Given the description of an element on the screen output the (x, y) to click on. 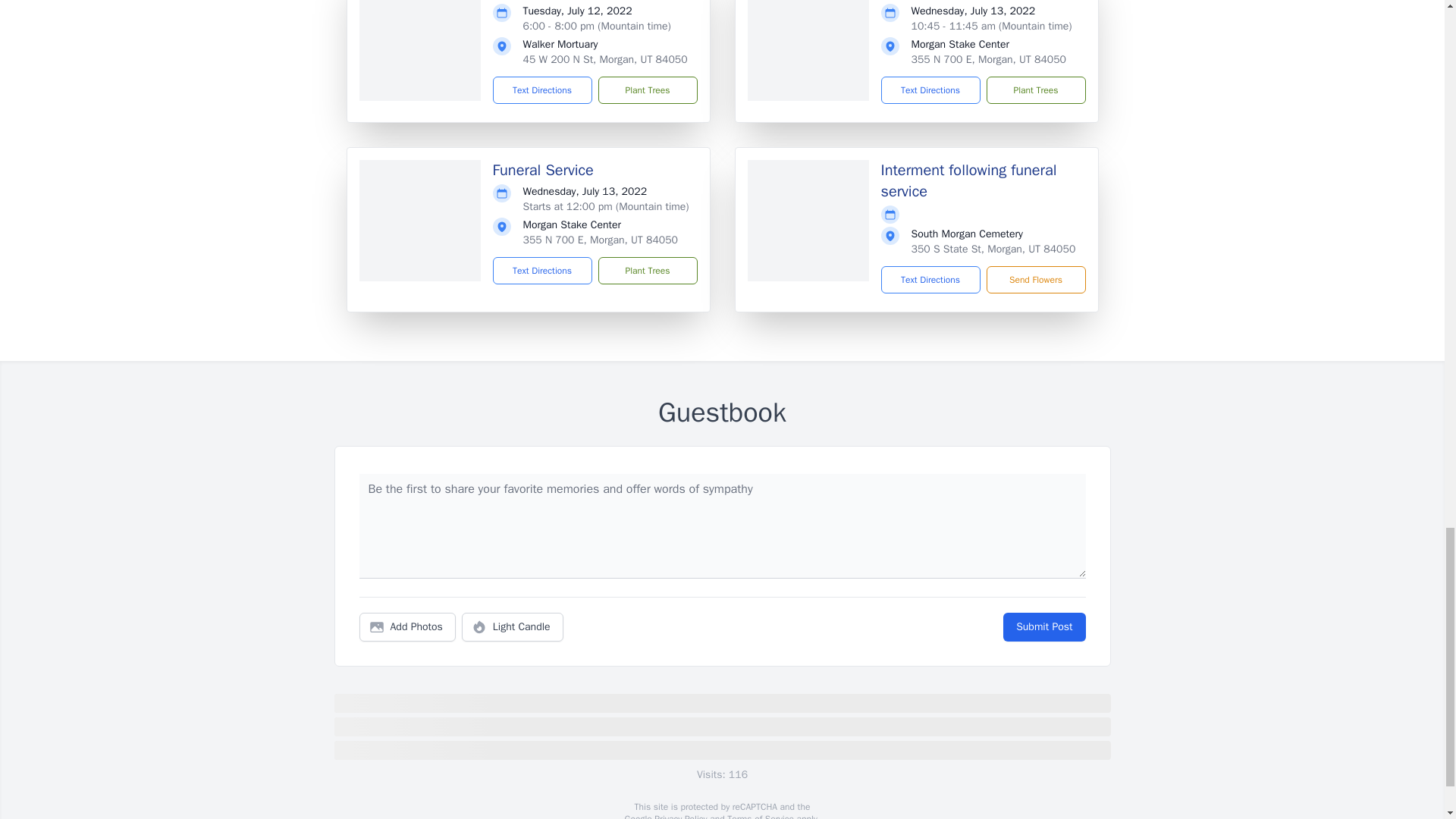
45 W 200 N St, Morgan, UT 84050 (604, 59)
355 N 700 E, Morgan, UT 84050 (600, 239)
Plant Trees (1034, 90)
Text Directions (929, 90)
Text Directions (929, 279)
355 N 700 E, Morgan, UT 84050 (989, 59)
350 S State St, Morgan, UT 84050 (993, 248)
Text Directions (542, 270)
Plant Trees (646, 270)
Send Flowers (1034, 279)
